Given the description of an element on the screen output the (x, y) to click on. 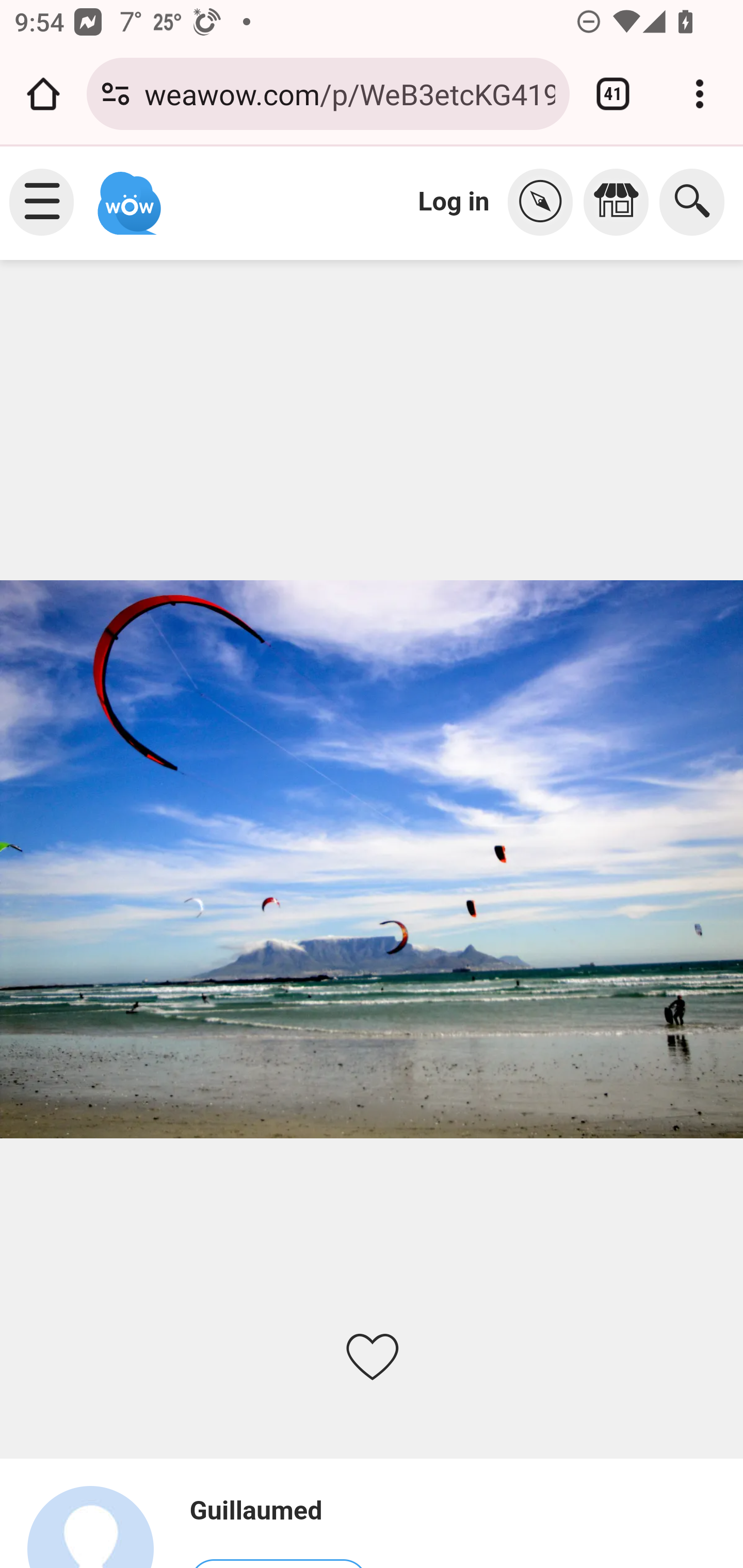
Open the home page (43, 93)
Connection is secure (115, 93)
Switch or close tabs (612, 93)
Customize and control Google Chrome (699, 93)
weawow.com/p/WeB3etcKG4190547 (349, 92)
Weawow (127, 194)
 (545, 201)
 (621, 201)
Log in (453, 201)
Guillaumed (99, 1525)
Guillaumed (277, 1510)
